Given the description of an element on the screen output the (x, y) to click on. 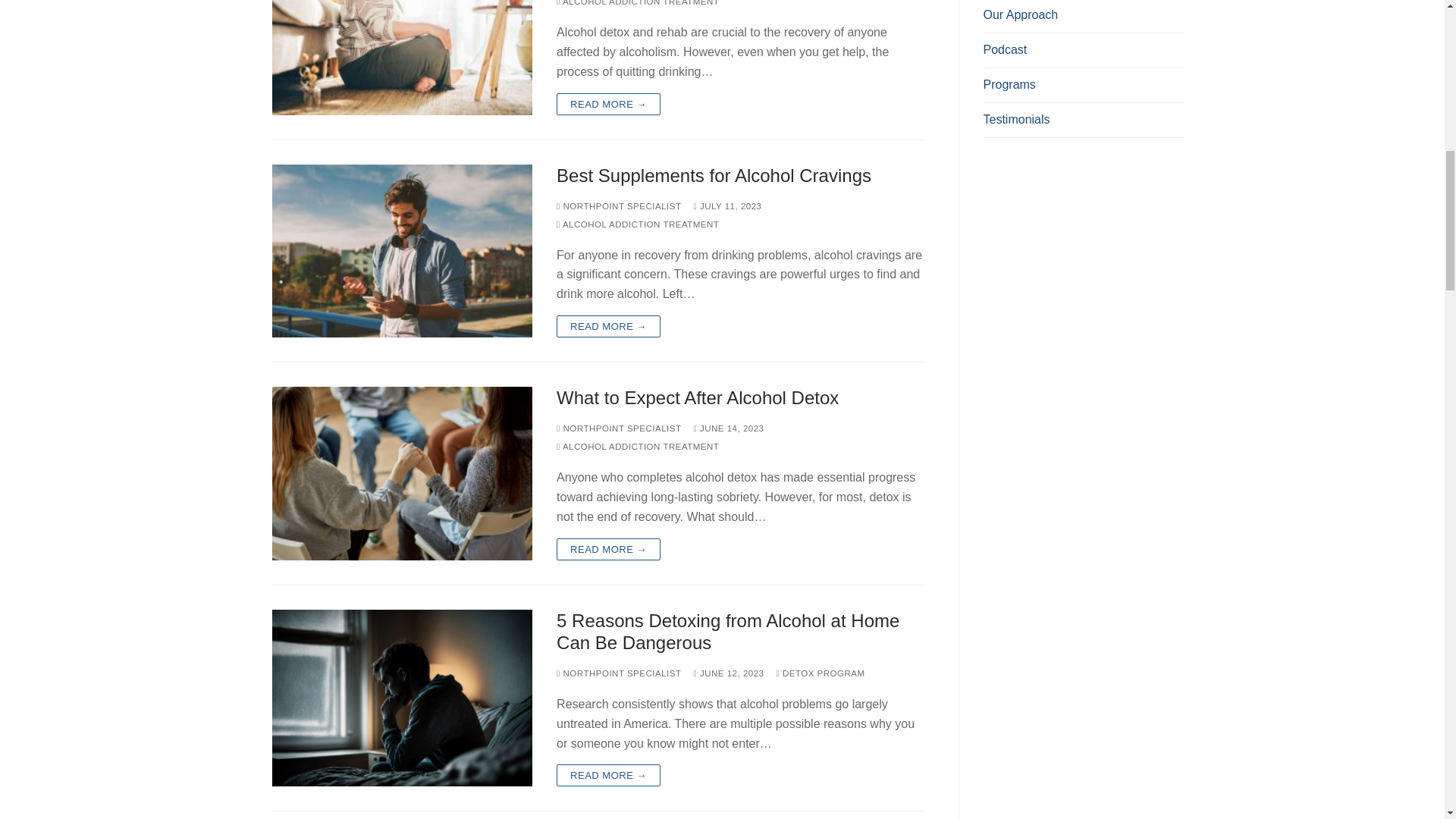
What to Expect After Alcohol Detox (401, 472)
10 Natural Cures for Alcohol Withdrawal and Cravings (401, 57)
Best Supplements for Alcohol Cravings (739, 175)
Best Supplements for Alcohol Cravings (401, 250)
5 Reasons Detoxing from Alcohol at Home Can Be Dangerous (401, 698)
What to Expect After Alcohol Detox (739, 397)
